Given the description of an element on the screen output the (x, y) to click on. 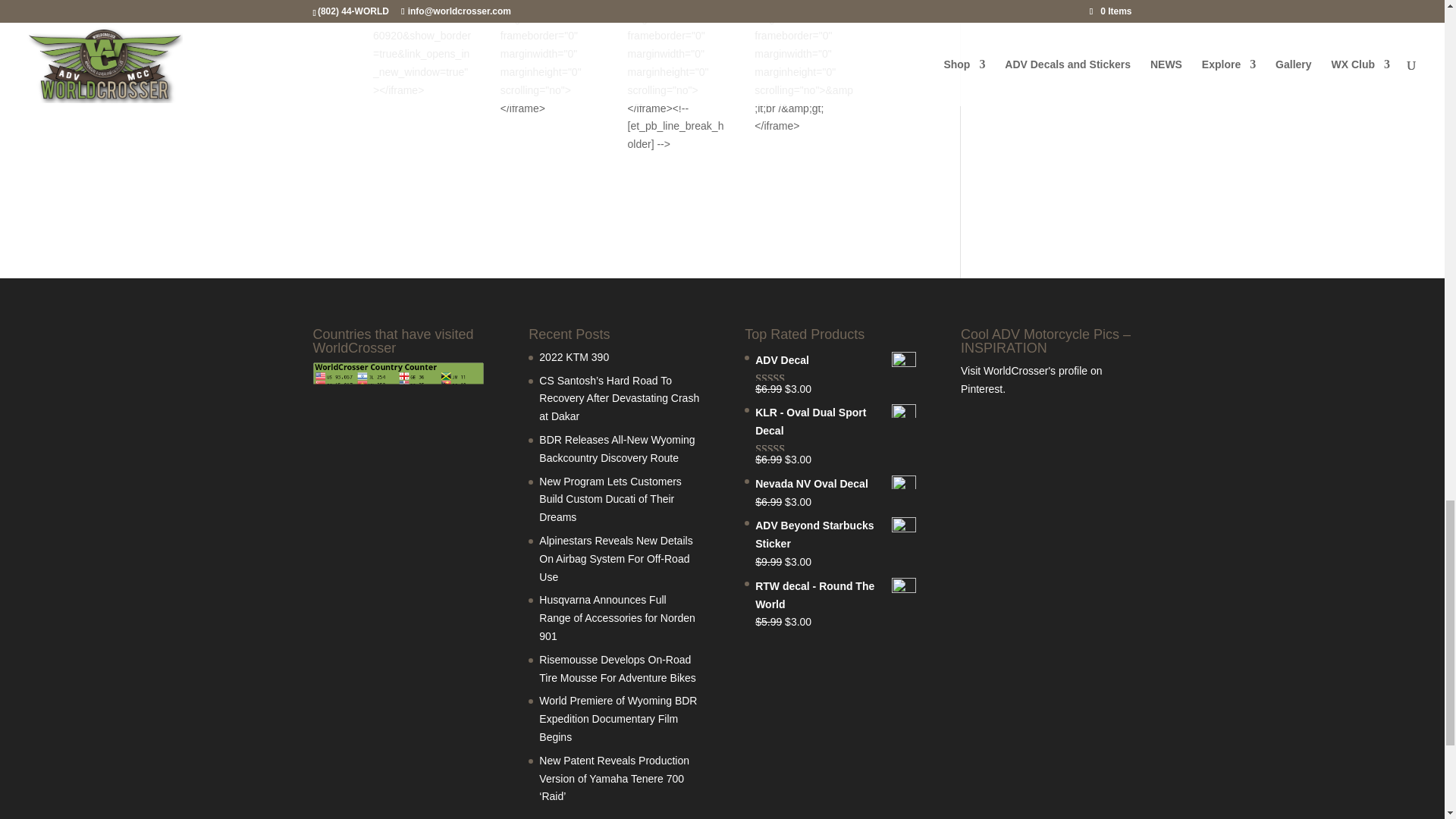
2022 KTM 390 (573, 357)
BDR Releases All-New Wyoming Backcountry Discovery Route (616, 449)
